Given the description of an element on the screen output the (x, y) to click on. 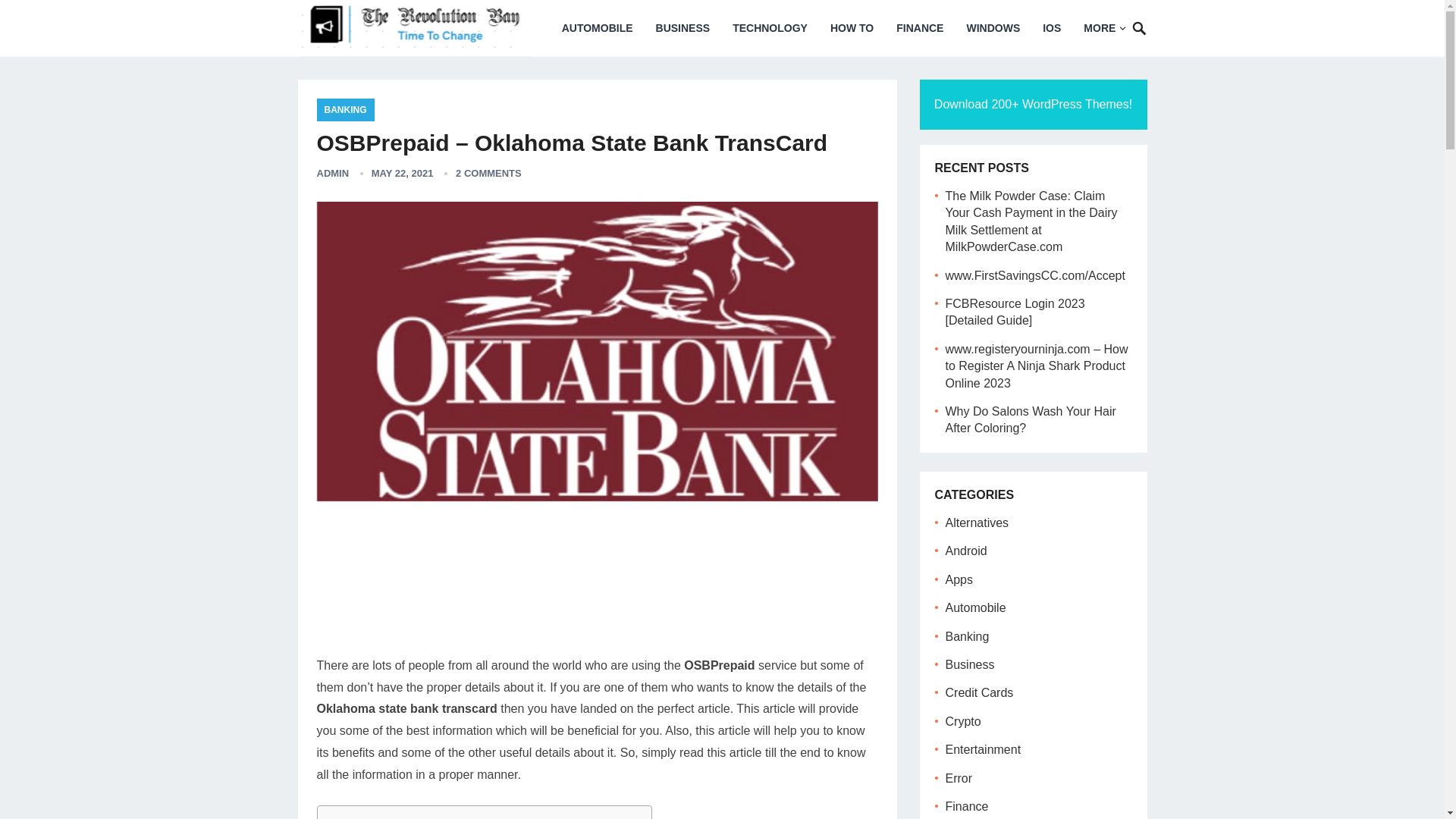
2 COMMENTS (488, 172)
MORE (1103, 28)
Posts by admin (333, 172)
TECHNOLOGY (769, 28)
ADMIN (333, 172)
HOW TO (851, 28)
View all posts in Banking (345, 109)
AUTOMOBILE (597, 28)
Advertisement (597, 585)
BANKING (345, 109)
